Given the description of an element on the screen output the (x, y) to click on. 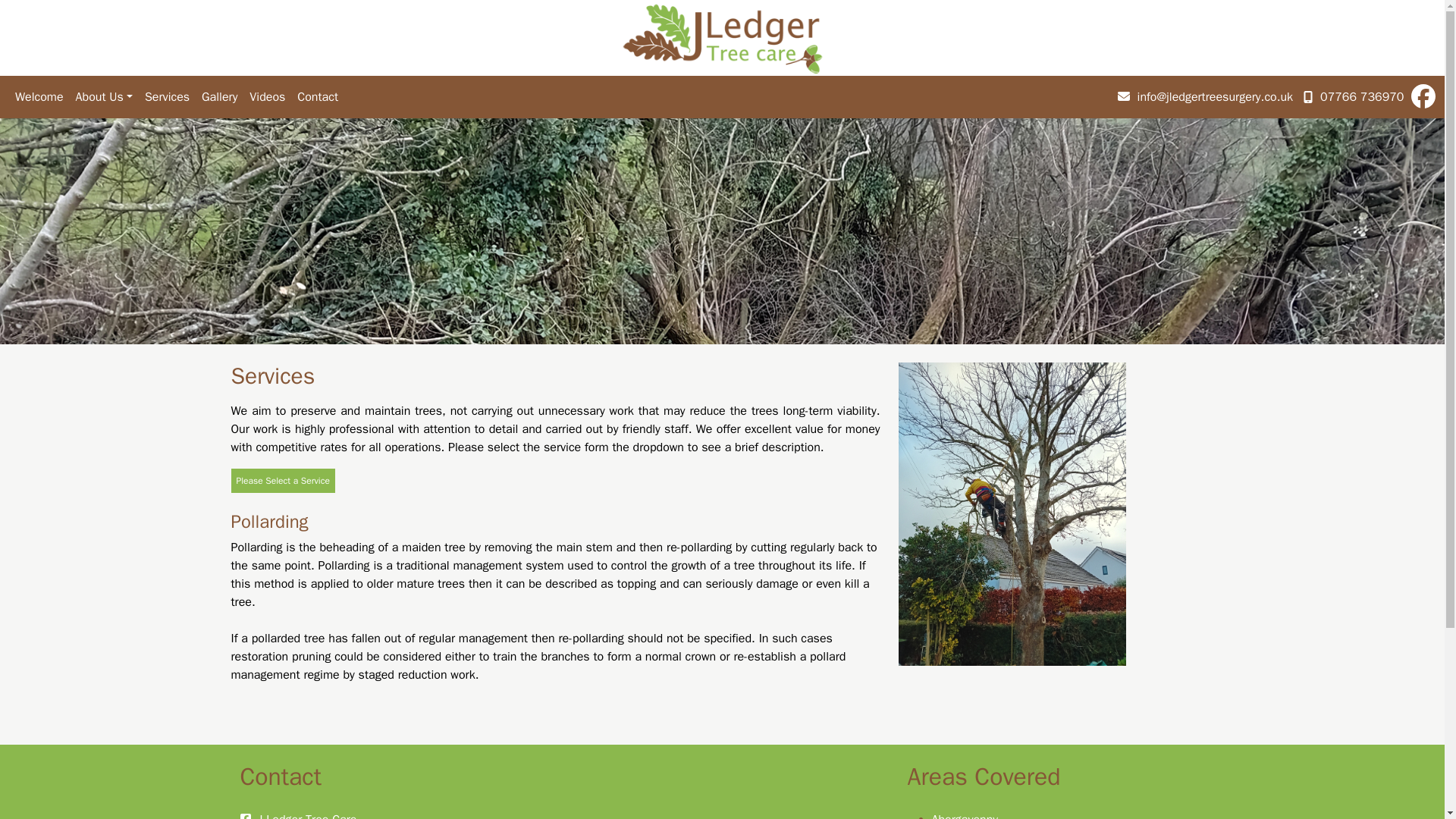
About Us (103, 96)
Services (166, 96)
Please Select a Service (282, 480)
Videos (267, 96)
J Ledger Tree Care (306, 815)
Gallery (219, 96)
Contact (317, 96)
Welcome (38, 96)
